Given the description of an element on the screen output the (x, y) to click on. 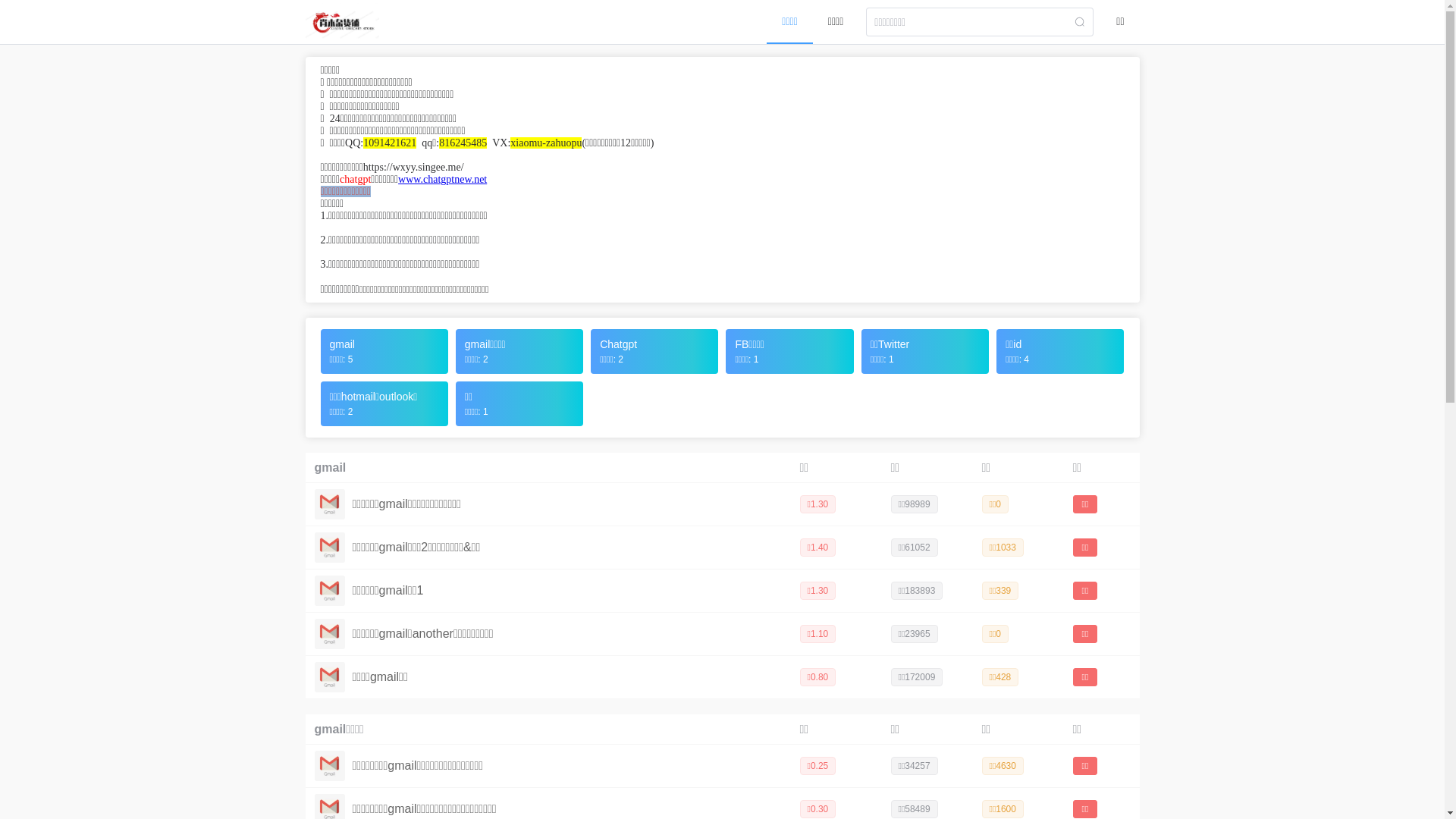
www.chatgptnew.net Element type: text (442, 179)
